Given the description of an element on the screen output the (x, y) to click on. 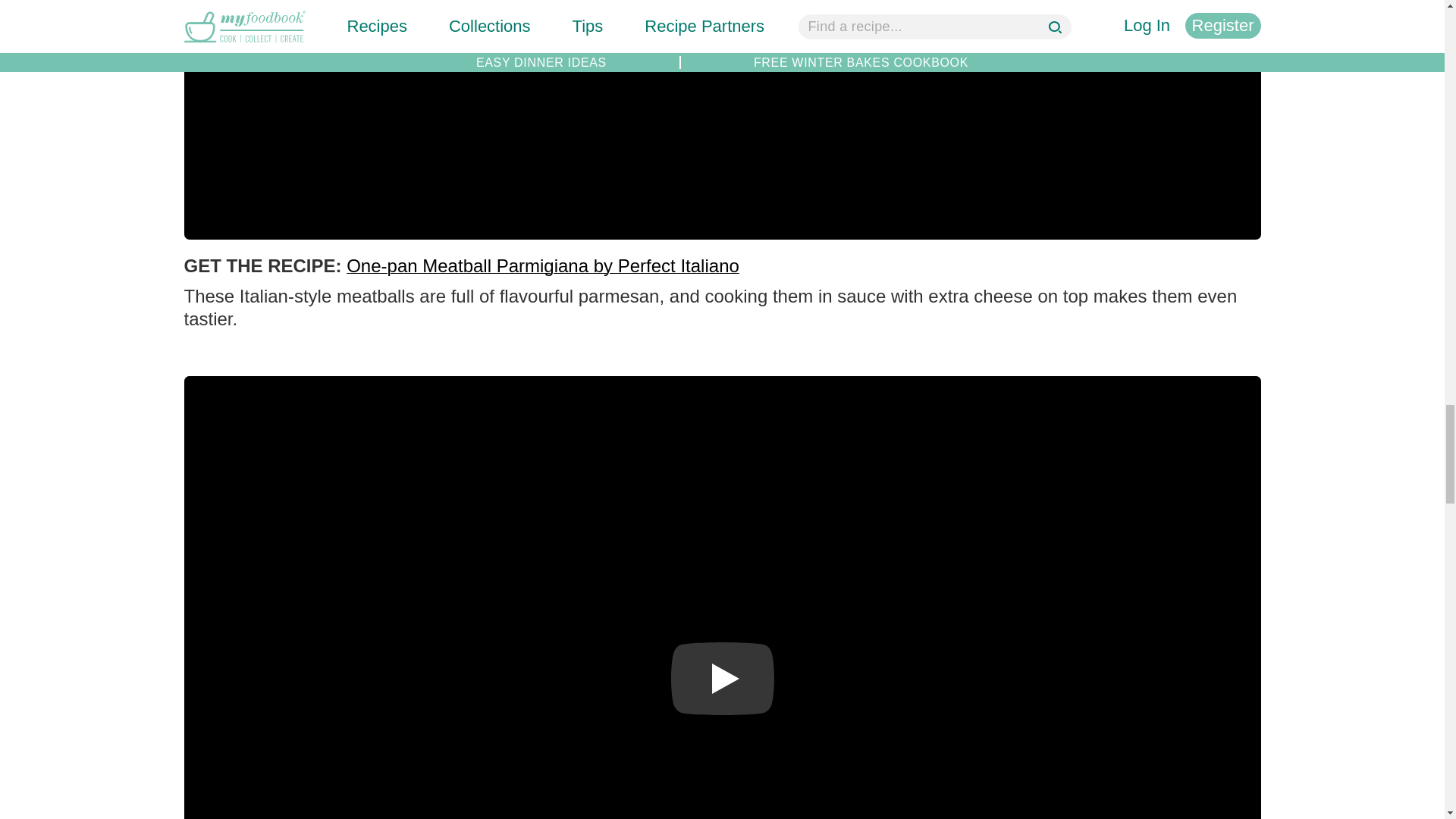
One-pan Meatball Parmigiana by Perfect Italiano (542, 264)
Play Video: Italian Meatball Pasta Bake (721, 678)
